Given the description of an element on the screen output the (x, y) to click on. 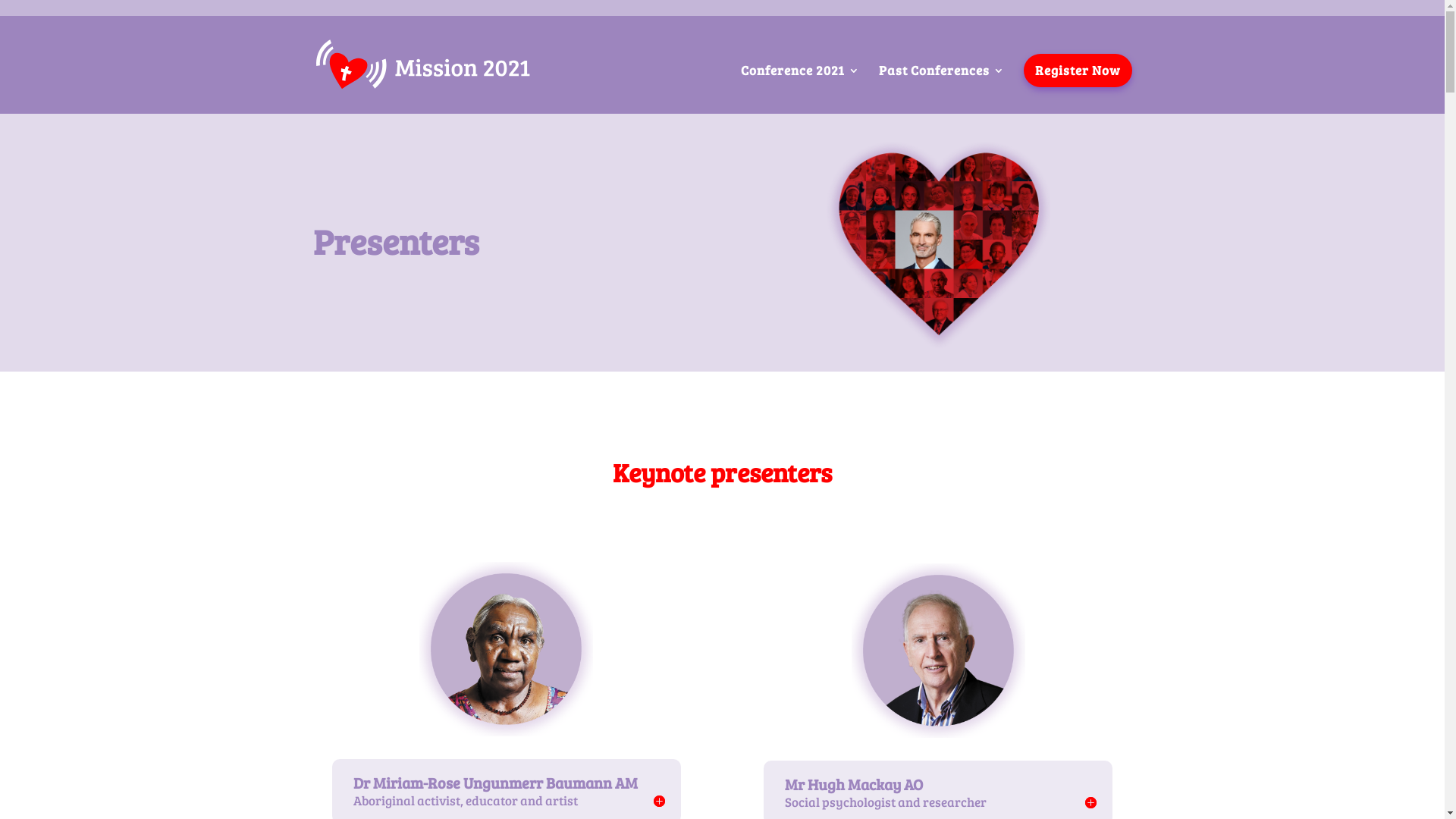
Hugh Mackay Element type: hover (938, 650)
Conference 2021 Element type: text (799, 89)
Past Conferences Element type: text (941, 89)
Miriam-Rose Ungunmerr-Baumann Element type: hover (506, 648)
Register Now Element type: text (1077, 70)
Heart_red_craig Element type: hover (937, 245)
